Given the description of an element on the screen output the (x, y) to click on. 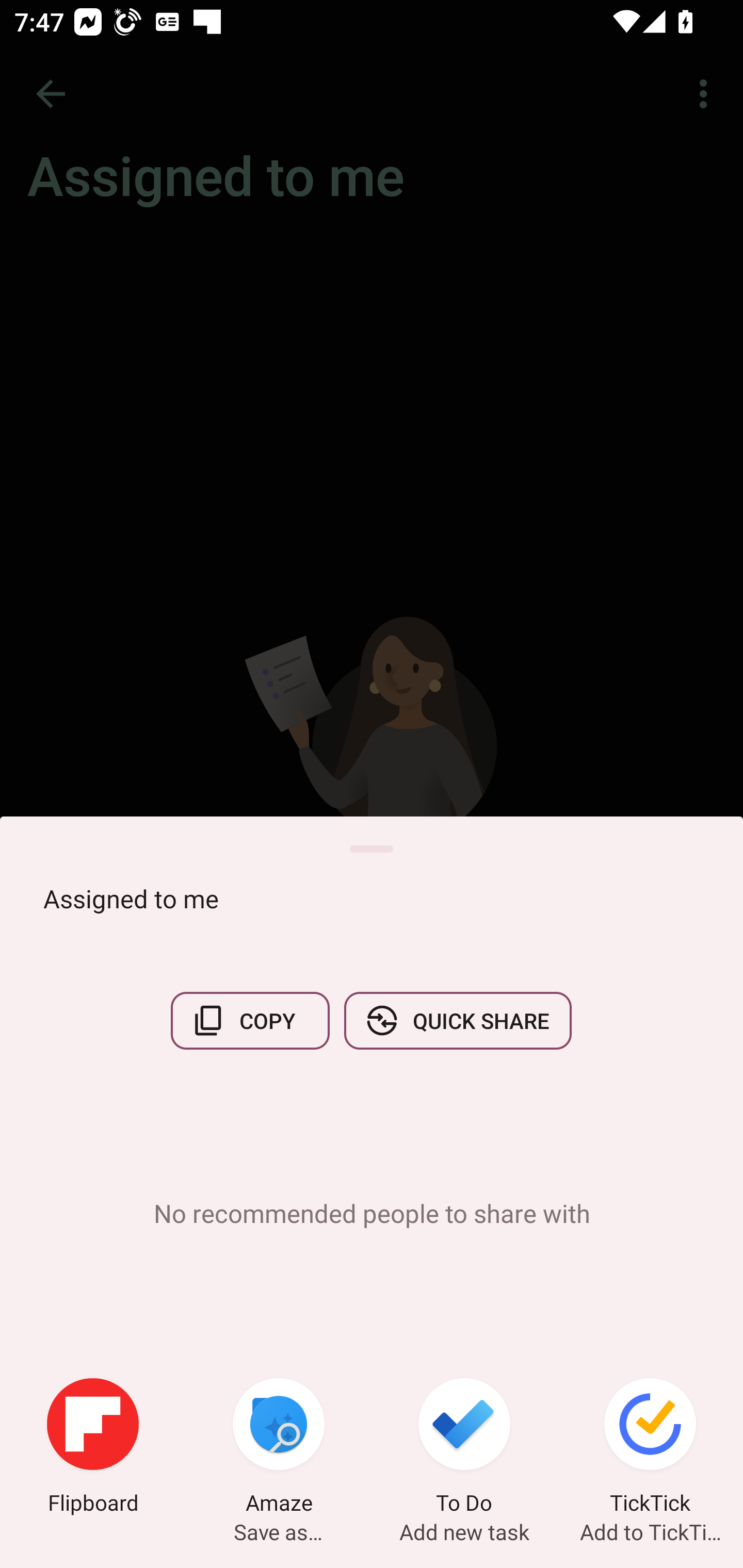
COPY (249, 1020)
QUICK SHARE (457, 1020)
Flipboard (92, 1448)
Amaze Save as… (278, 1448)
To Do Add new task (464, 1448)
TickTick Add to TickTick (650, 1448)
